Given the description of an element on the screen output the (x, y) to click on. 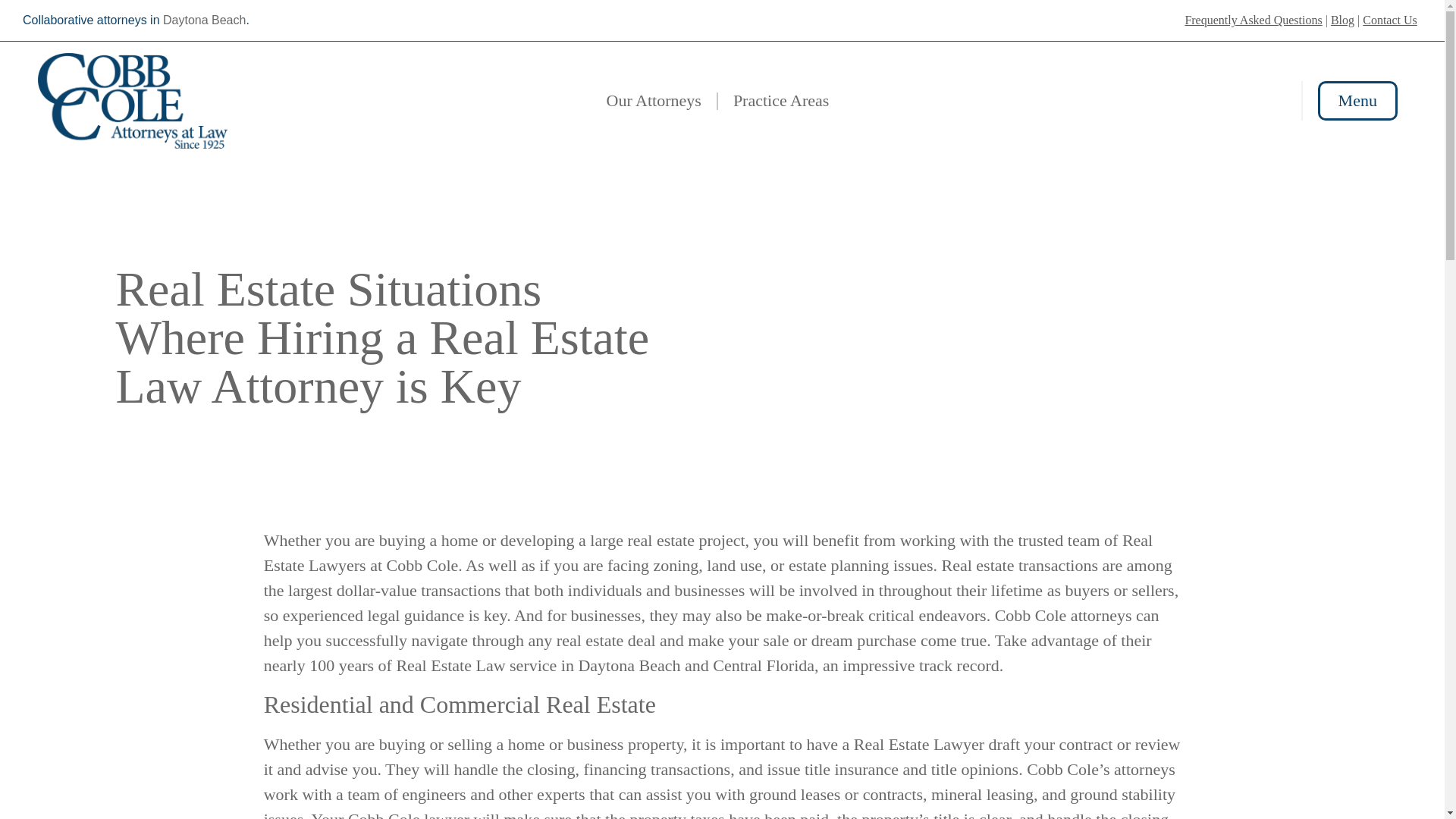
Blog (1342, 19)
Daytona Beach (204, 19)
Frequently Asked Questions (1253, 19)
Practice Areas (780, 100)
Contact Us (1389, 19)
Menu (1357, 100)
Our Attorneys (653, 100)
